Given the description of an element on the screen output the (x, y) to click on. 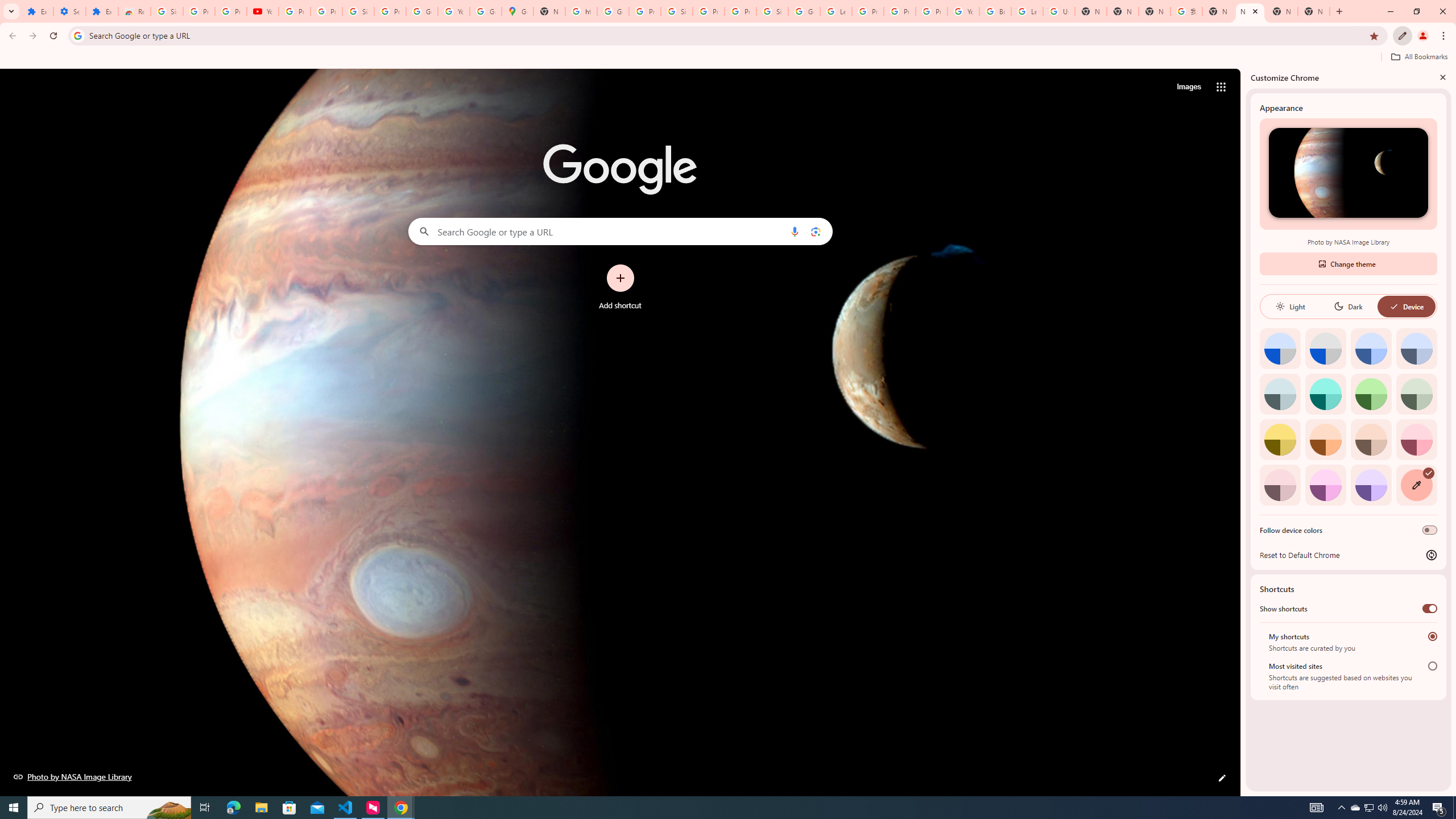
Extensions (37, 11)
Follow device colors (1429, 529)
Show shortcuts (1429, 608)
Privacy Help Center - Policies Help (899, 11)
Sign in - Google Accounts (676, 11)
Pink (1279, 484)
Sign in - Google Accounts (358, 11)
Light (1289, 305)
Bookmarks (728, 58)
